Given the description of an element on the screen output the (x, y) to click on. 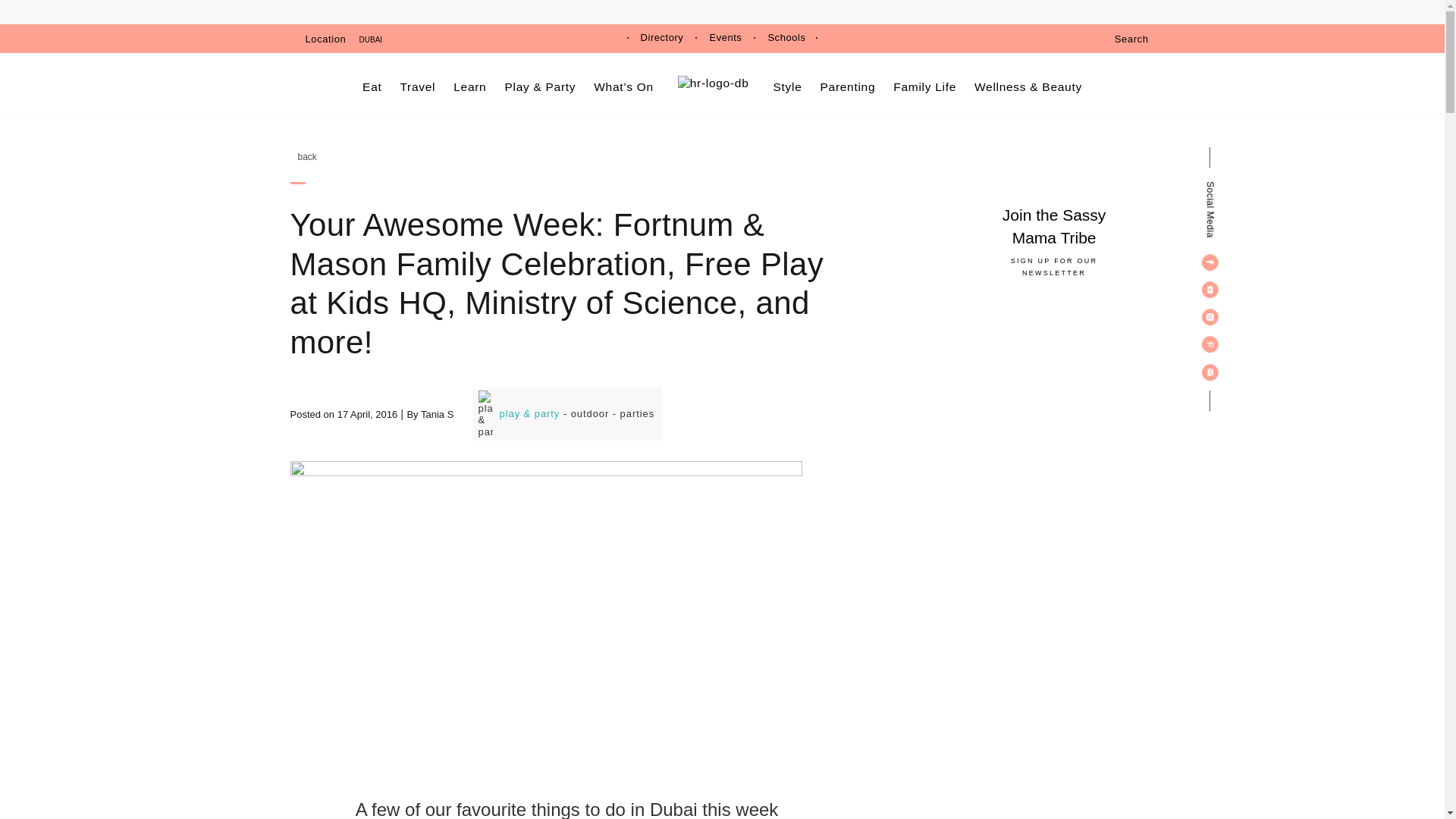
Schools (785, 38)
Sassy Mama Youtube (1209, 289)
Travel (418, 87)
Eat (371, 87)
Sassy Mama Instagram (1209, 317)
Learn (469, 87)
Sassy Mama Pinterest (1209, 344)
Sassy Mama Facebook Page (1209, 262)
